Given the description of an element on the screen output the (x, y) to click on. 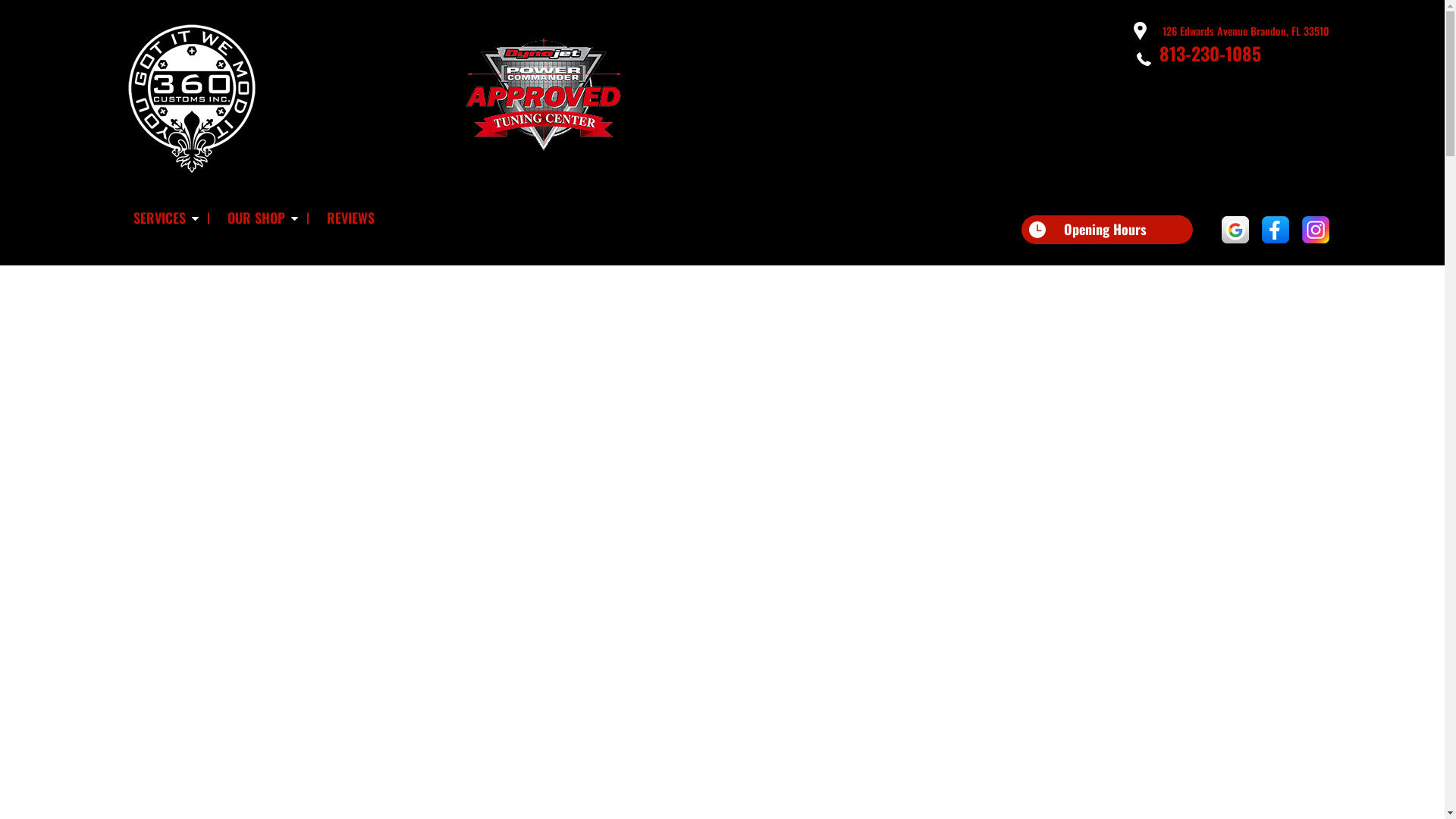
Opening Hours Element type: text (1106, 229)
813-230-1085 Element type: text (1209, 52)
SERVICES Element type: text (162, 218)
OUR SHOP Element type: text (258, 218)
REVIEWS Element type: text (350, 218)
